Given the description of an element on the screen output the (x, y) to click on. 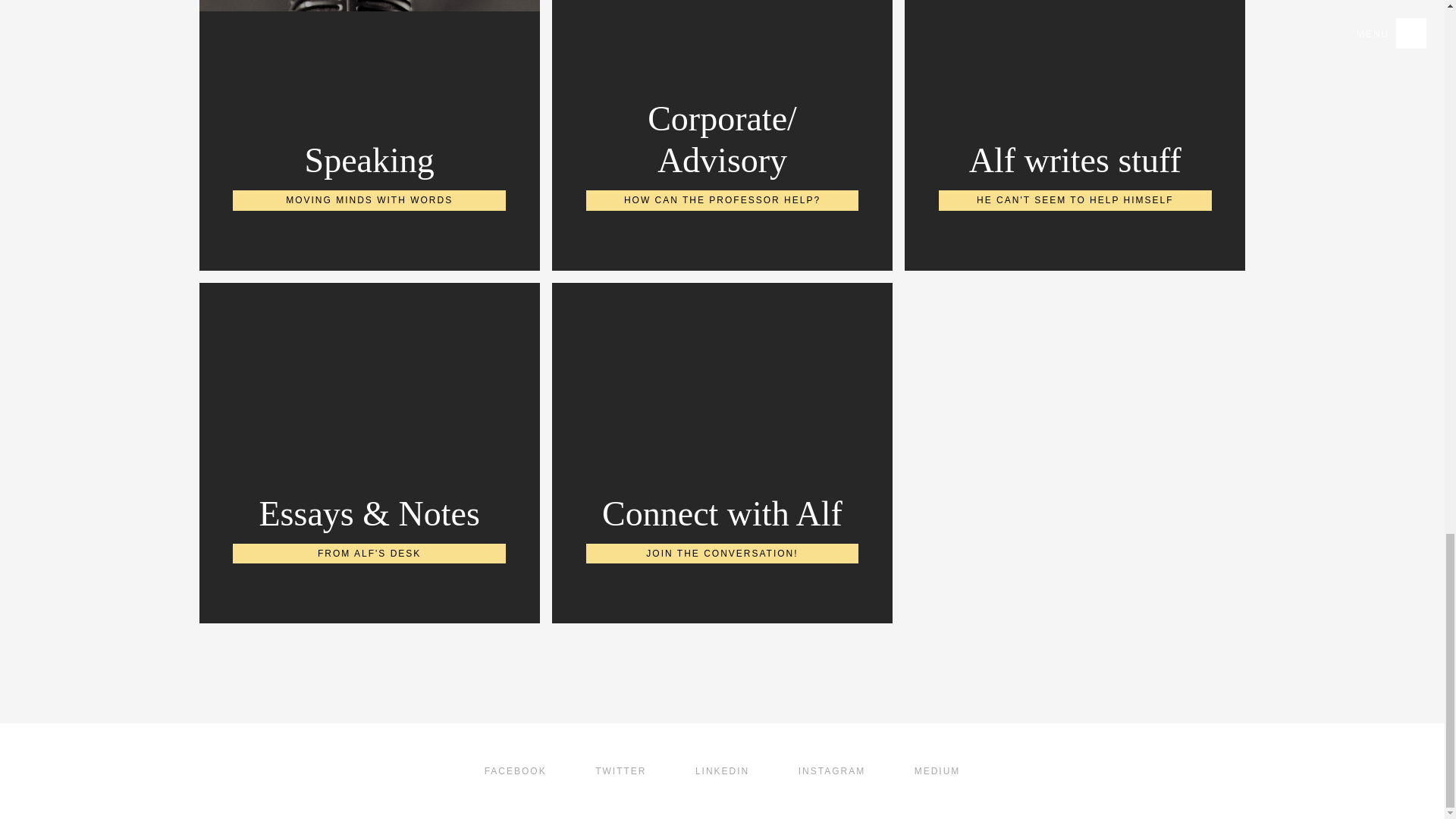
FACEBOOK (721, 452)
INSTAGRAM (515, 771)
LINKEDIN (830, 771)
TWITTER (722, 771)
MEDIUM (620, 771)
